Given the description of an element on the screen output the (x, y) to click on. 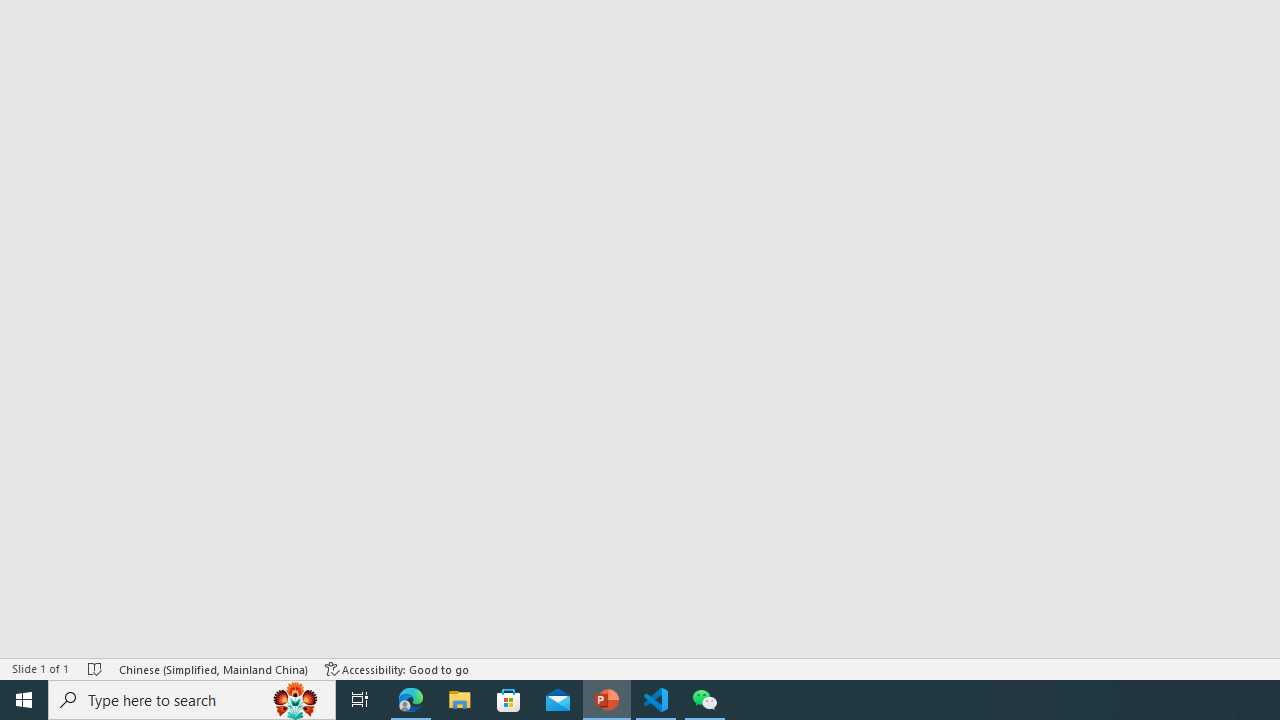
Accessibility Checker Accessibility: Good to go (397, 668)
